Given the description of an element on the screen output the (x, y) to click on. 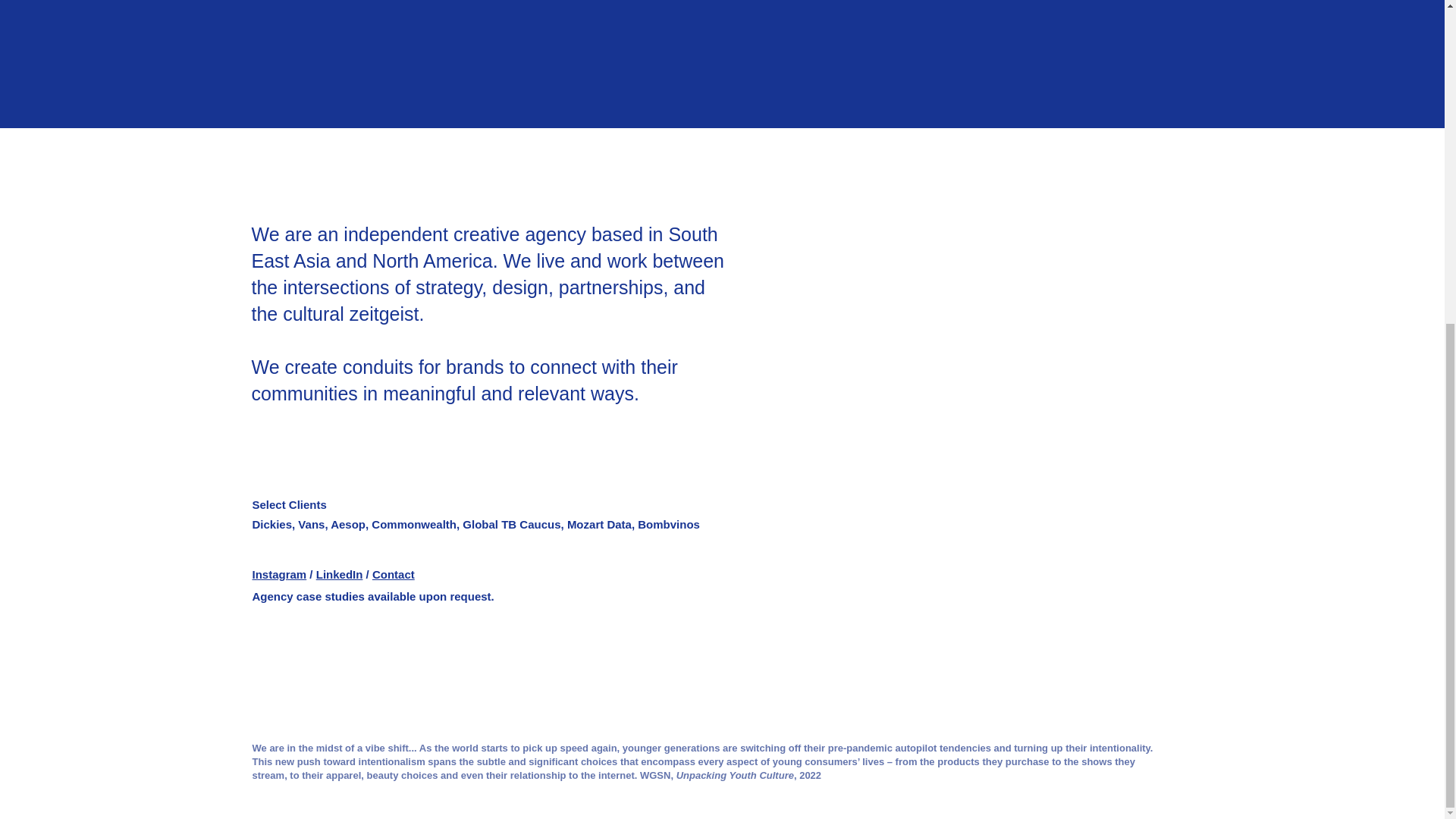
vibe shift...  (392, 747)
Instagram (278, 574)
LinkedIn (338, 574)
Contact (393, 574)
